Given the description of an element on the screen output the (x, y) to click on. 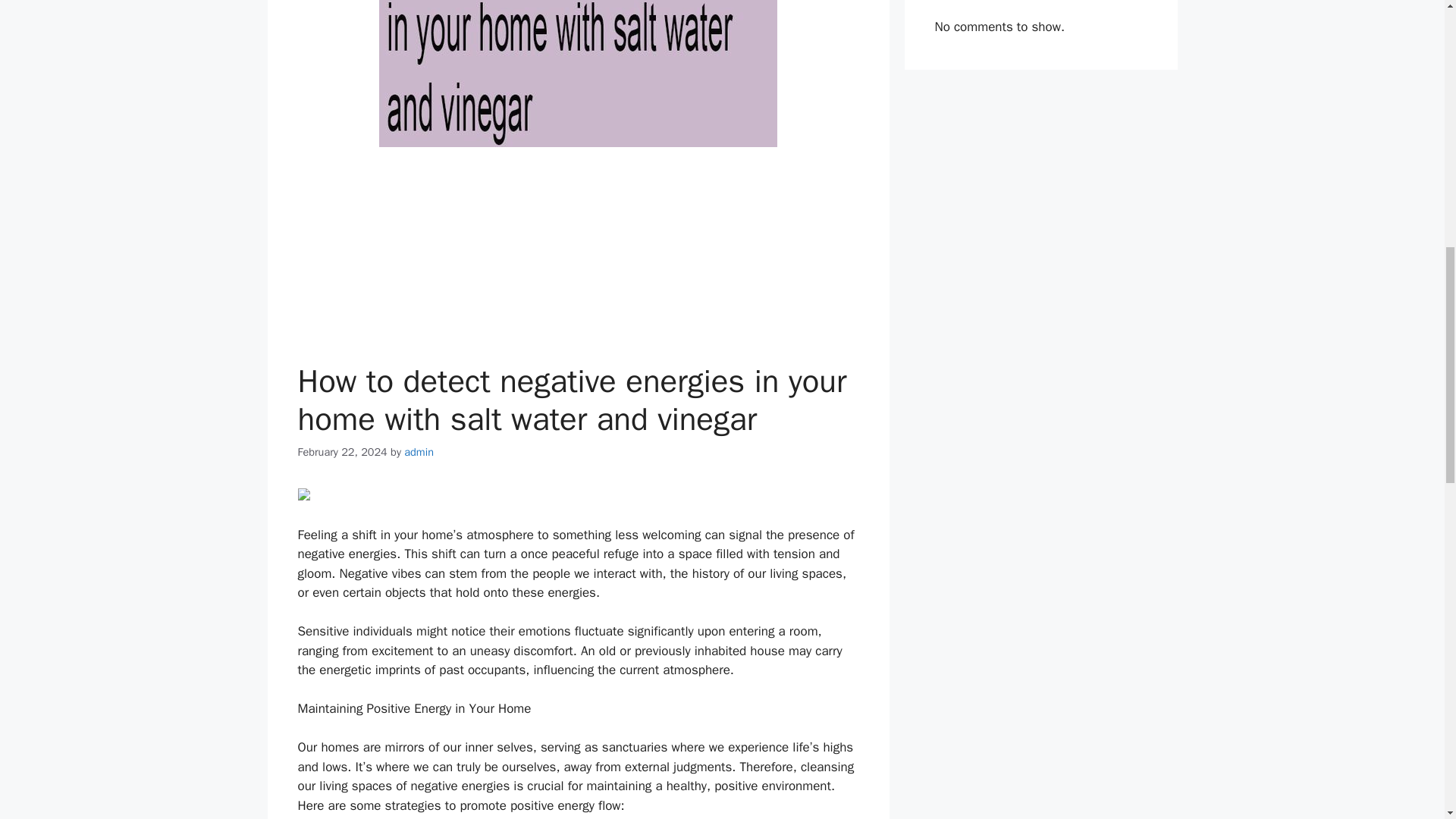
admin (418, 451)
View all posts by admin (418, 451)
